Given the description of an element on the screen output the (x, y) to click on. 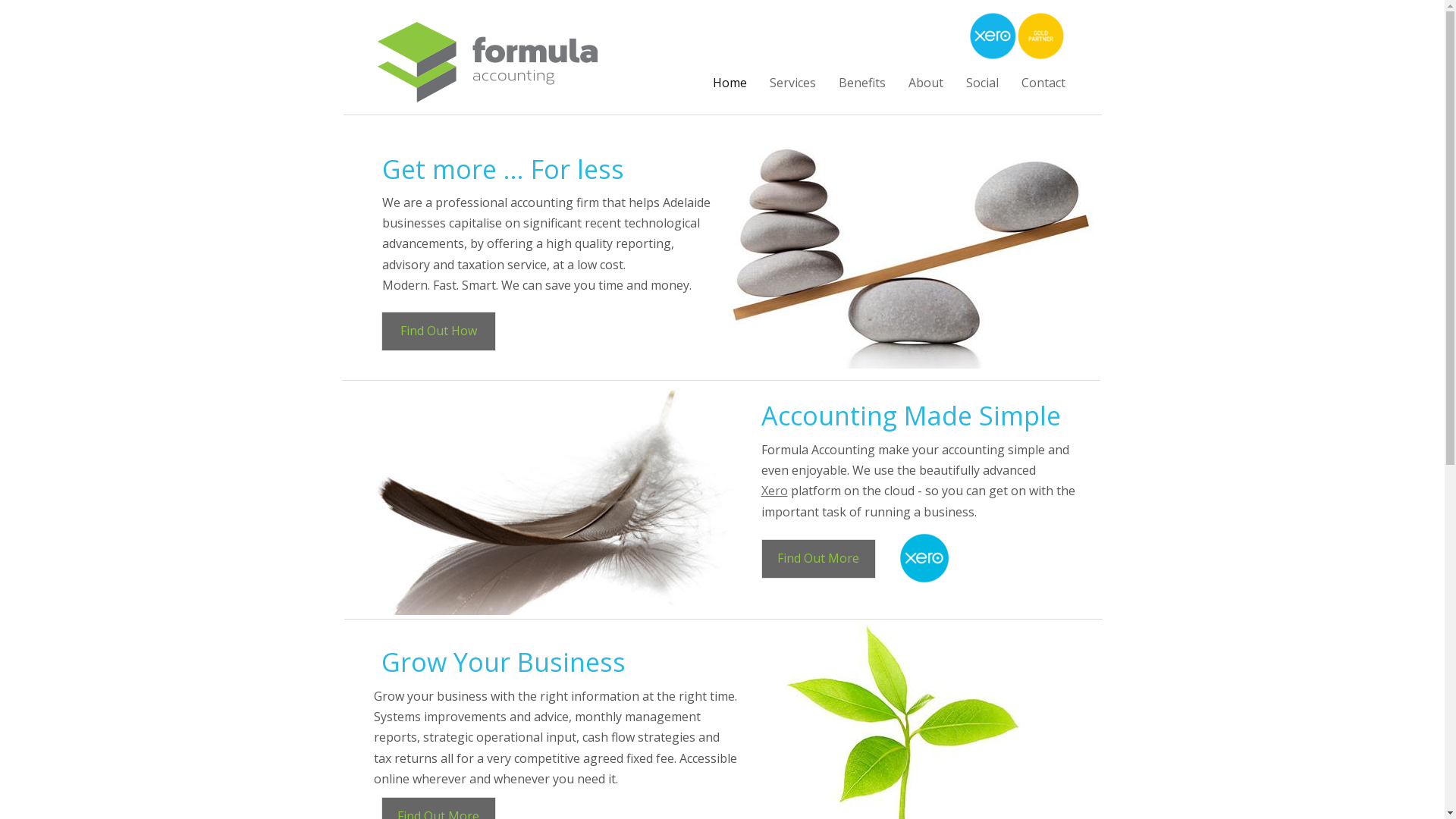
Services Element type: text (792, 82)
About Element type: text (924, 82)
Find Out More Element type: text (818, 558)
Xero Element type: text (774, 490)
Social Element type: text (981, 82)
Contact Element type: text (1043, 82)
Benefits Element type: text (861, 82)
Home Element type: text (728, 82)
Find Out How Element type: text (437, 331)
